Given the description of an element on the screen output the (x, y) to click on. 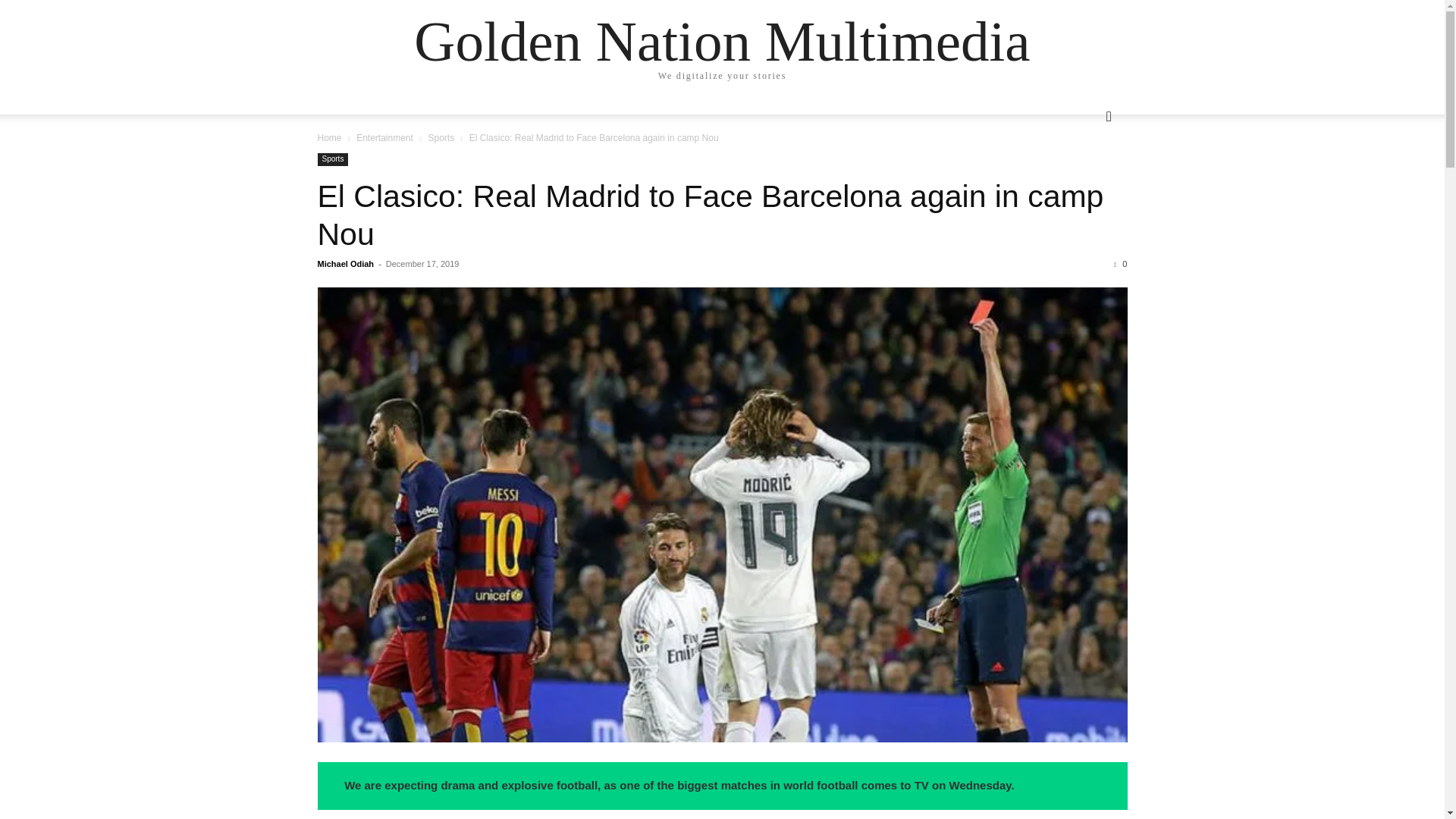
Sports (332, 159)
Michael Odiah (345, 263)
View all posts in Entertainment (384, 137)
El Clasico: Real Madrid to Face Barcelona again in camp Nou (710, 215)
Entertainment (384, 137)
El Clasico: Real Madrid to Face Barcelona again in camp Nou (710, 215)
0 (1119, 263)
View all posts in Sports (441, 137)
Search (1085, 177)
Golden Nation Multimedia (721, 41)
Sports (441, 137)
Home (328, 137)
